Given the description of an element on the screen output the (x, y) to click on. 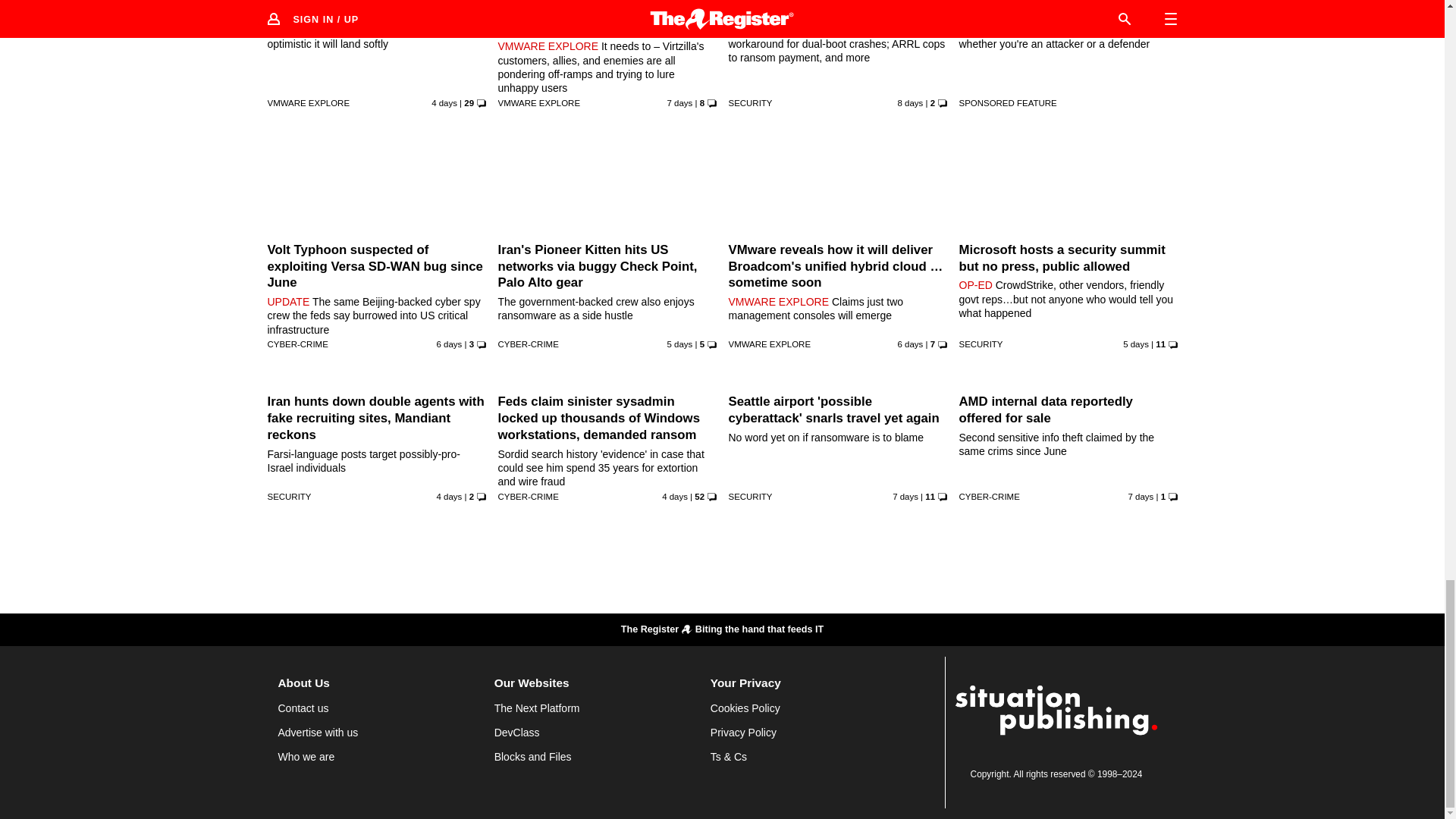
30 Aug 2024 4:27 (449, 496)
29 Aug 2024 18:30 (674, 496)
28 Aug 2024 18:0 (679, 343)
26 Aug 2024 2:0 (910, 102)
27 Aug 2024 17:32 (449, 343)
26 Aug 2024 6:3 (679, 102)
28 Aug 2024 22:20 (1135, 343)
29 Aug 2024 23:15 (443, 102)
27 Aug 2024 13:1 (910, 343)
